Given the description of an element on the screen output the (x, y) to click on. 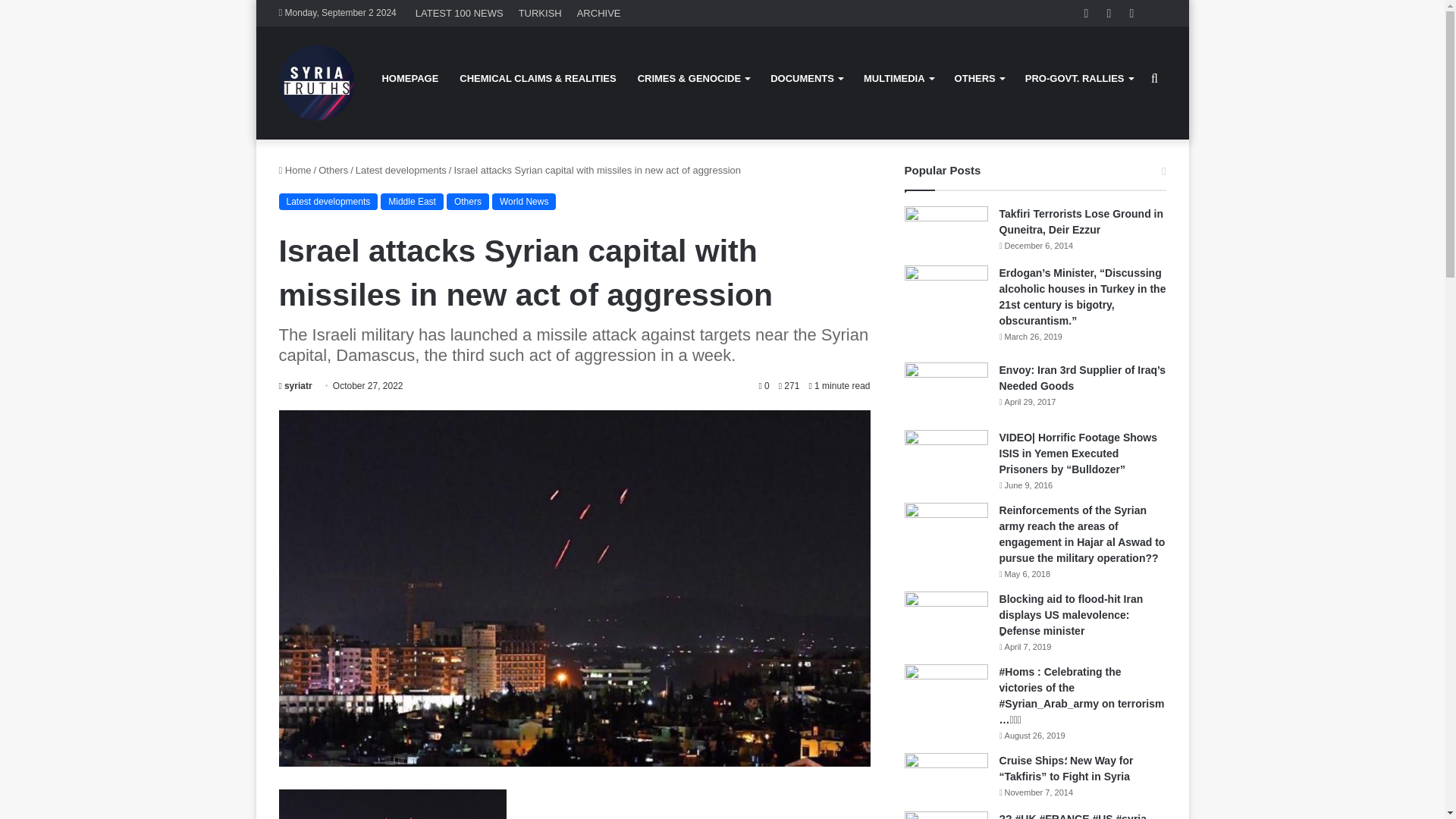
syriatr (296, 385)
ARCHIVE (598, 13)
TURKISH (540, 13)
PRO-GOVT. RALLIES (1078, 78)
LATEST 100 NEWS (459, 13)
Home (295, 170)
